Given the description of an element on the screen output the (x, y) to click on. 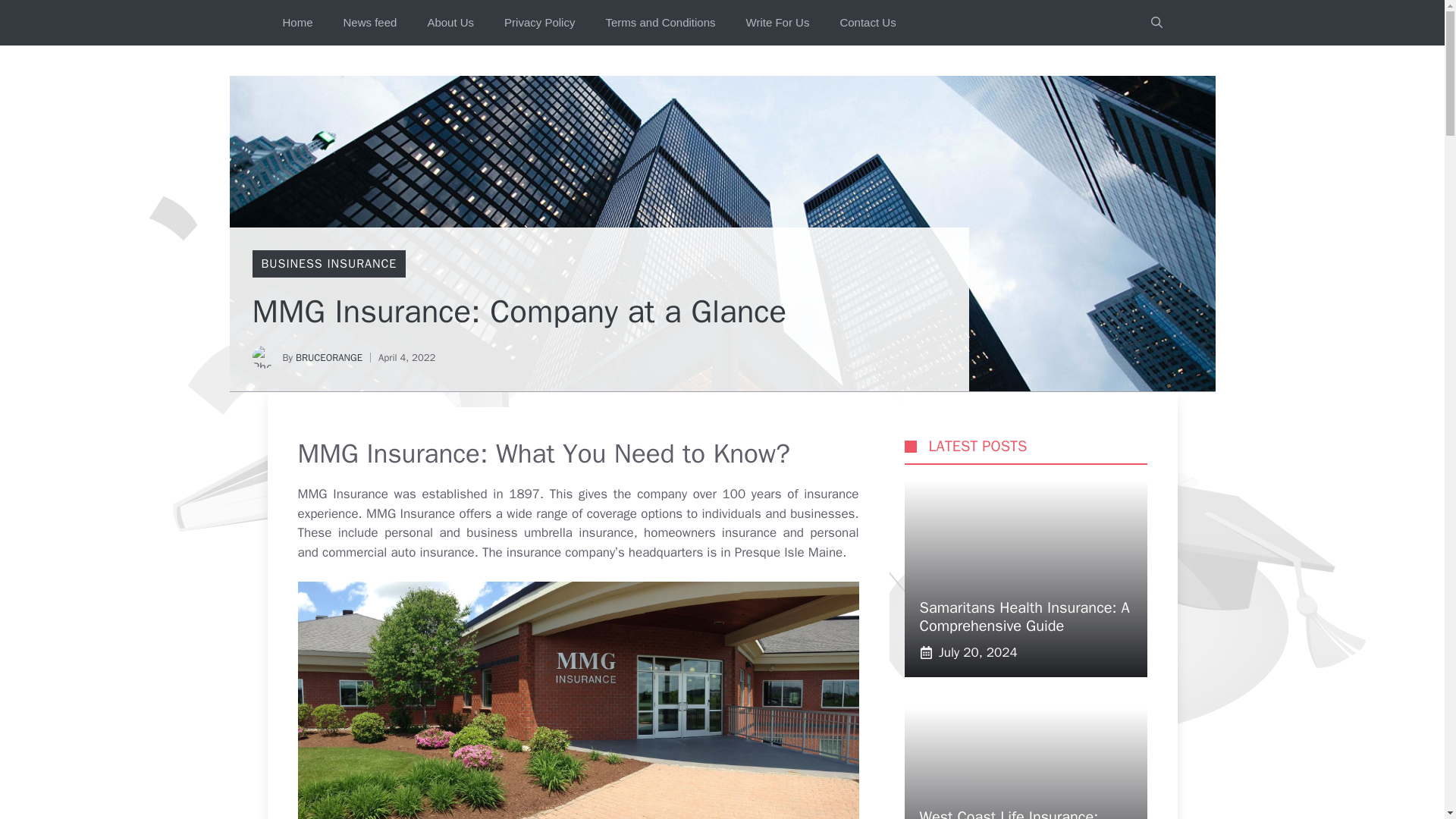
Home (296, 22)
Samaritans Health Insurance: A Comprehensive Guide (1023, 616)
Privacy Policy (539, 22)
Terms and Conditions (659, 22)
Contact Us (867, 22)
News feed (370, 22)
About Us (450, 22)
Write For Us (777, 22)
BUSINESS INSURANCE (328, 263)
BRUCEORANGE (328, 357)
